Given the description of an element on the screen output the (x, y) to click on. 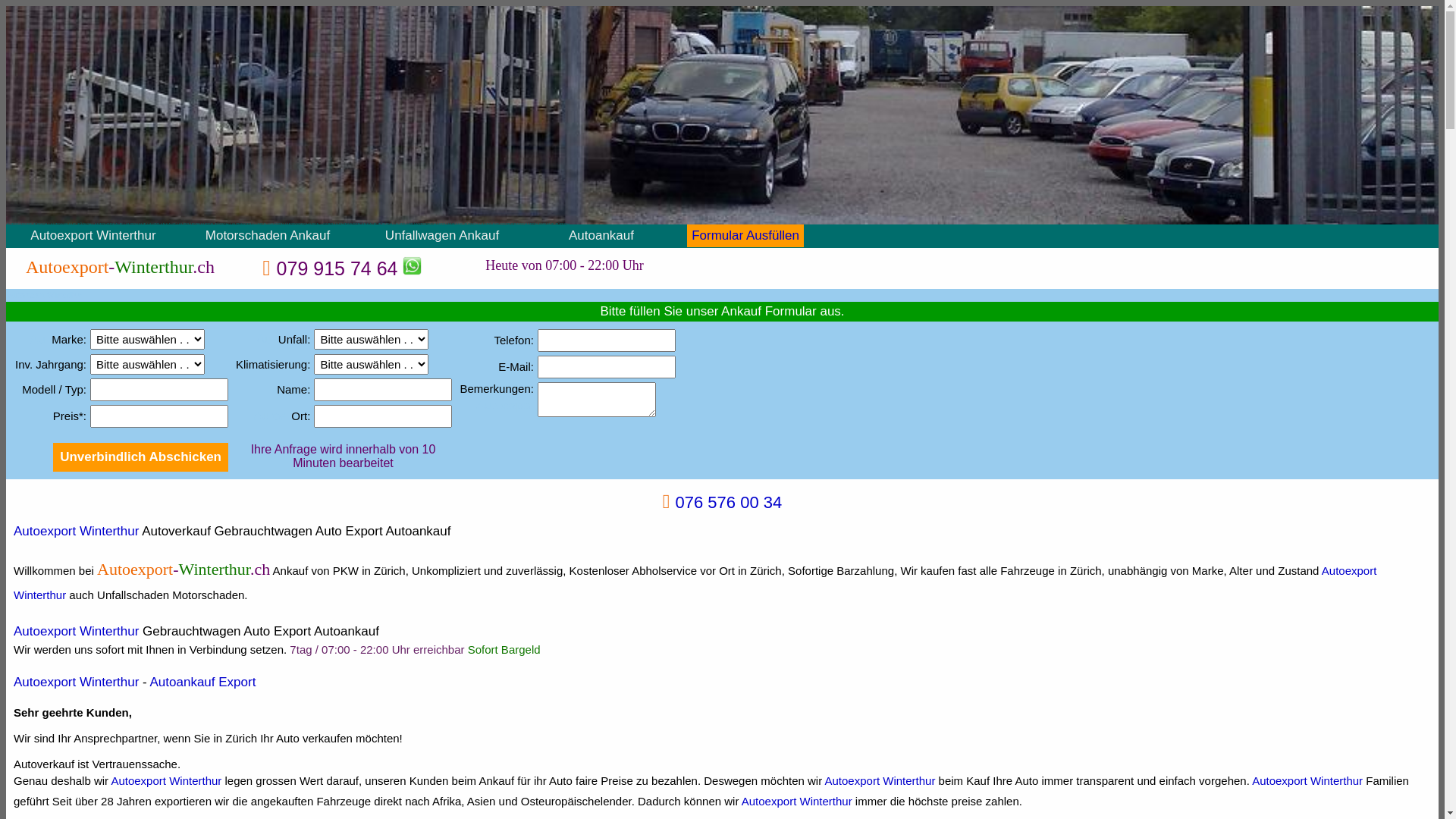
Autoexport Winterthur Element type: text (75, 681)
Autoankauf Export Element type: text (203, 681)
Autoexport Winterthur Element type: text (165, 780)
Unfallwagen Ankauf Element type: text (441, 235)
Autoankauf Element type: text (600, 235)
Autoexport Winterthur Element type: text (1307, 780)
Motorschaden Ankauf Element type: text (267, 235)
Autoexport Winterthur Element type: text (75, 631)
Autoexport Winterthur Element type: text (75, 531)
Autoexport-Winterthur.ch Element type: text (183, 568)
Autoexport-Winterthur.ch Element type: text (119, 266)
Autoexport Winterthur Element type: text (92, 235)
Autoexport Winterthur Element type: text (796, 800)
Unverbindlich Abschicken Element type: text (140, 456)
Autoexport Winterthur Element type: text (694, 582)
Autoexport Winterthur Element type: text (880, 780)
